Given the description of an element on the screen output the (x, y) to click on. 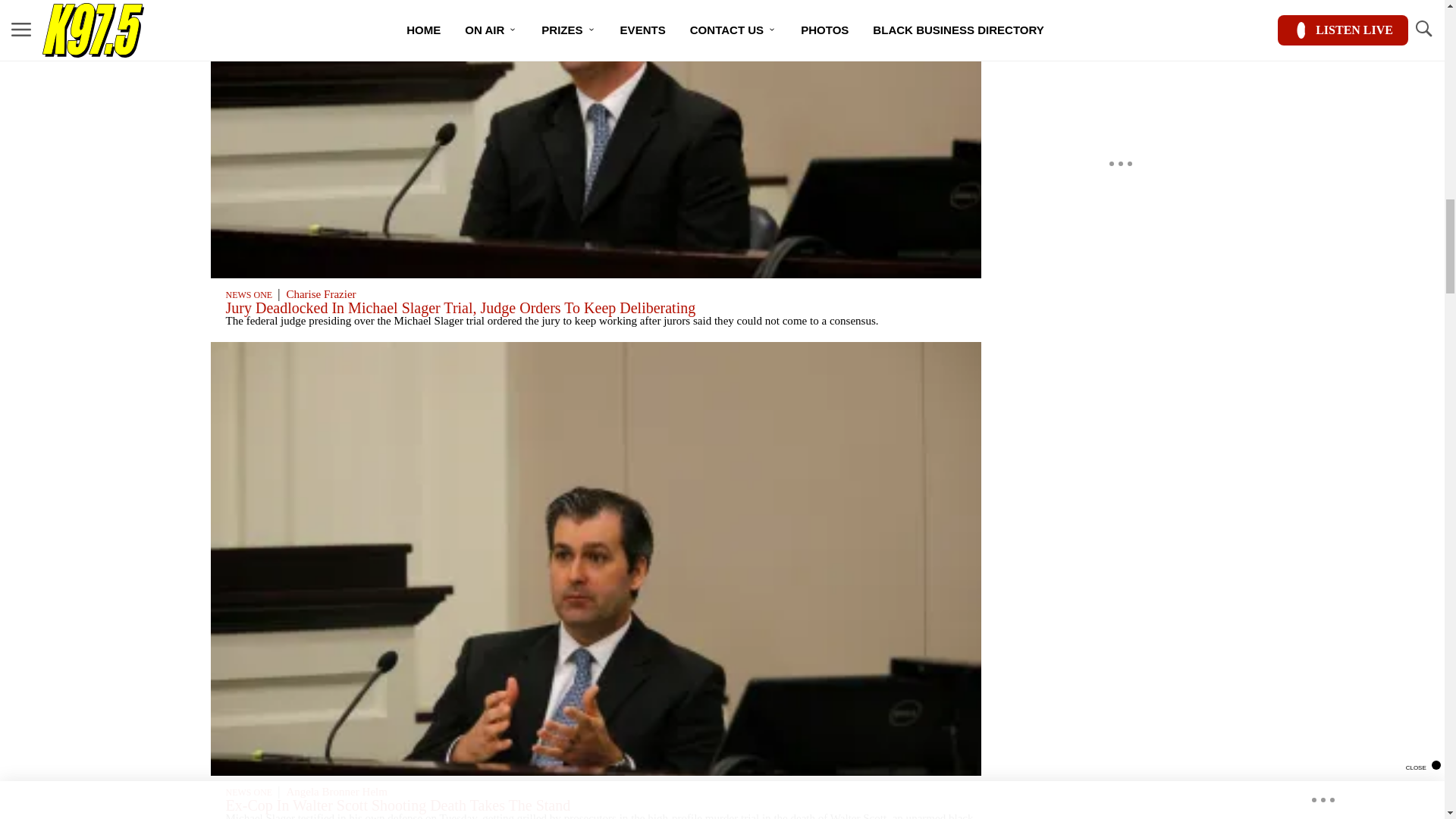
NEWS ONE (249, 294)
Charise Frazier (320, 294)
NEWS ONE (249, 792)
